Given the description of an element on the screen output the (x, y) to click on. 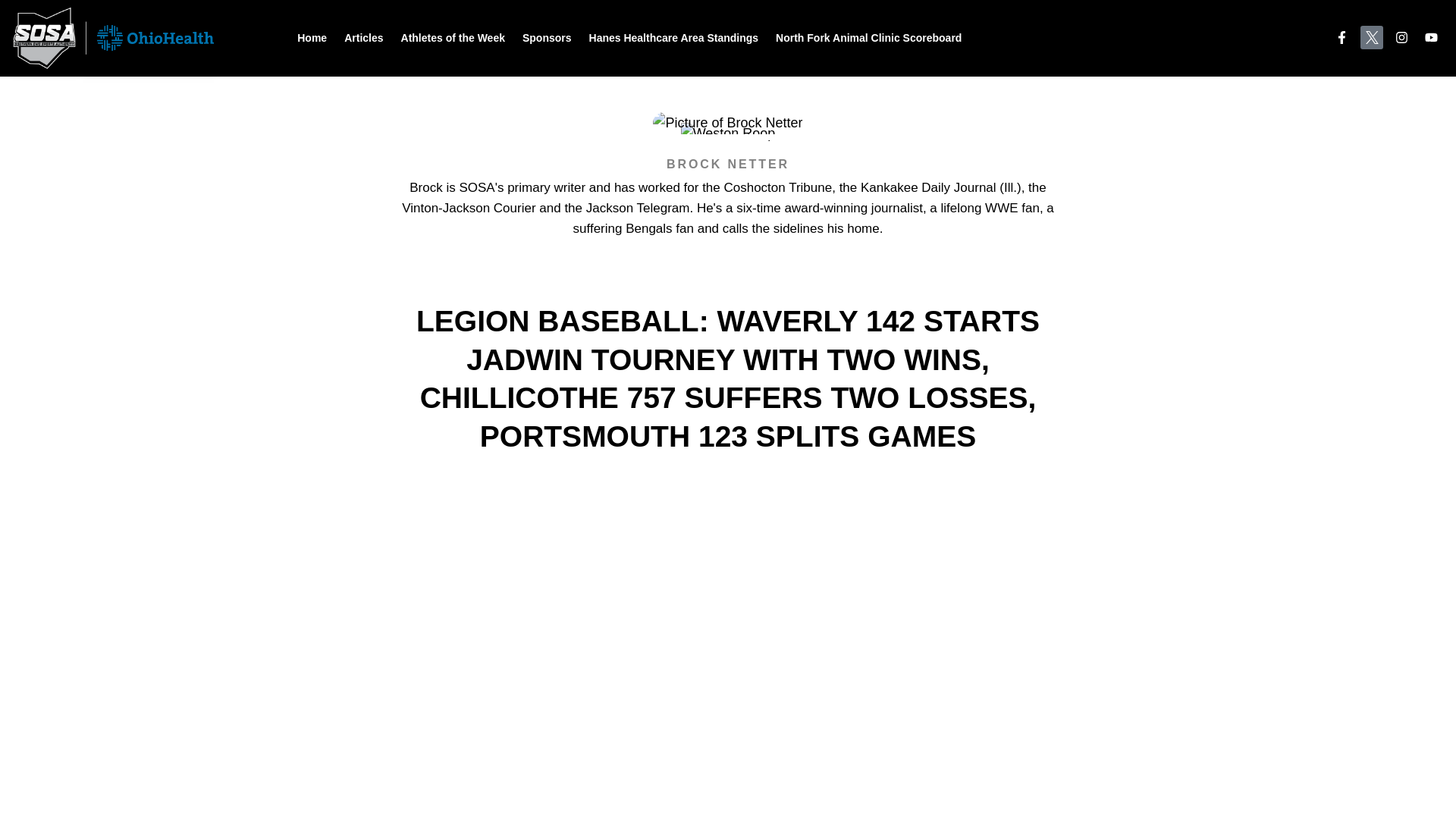
Home (311, 37)
Athletes of the Week (452, 37)
Sponsors (547, 37)
North Fork Animal Clinic Scoreboard (868, 37)
Weston Roop (728, 133)
Hanes Healthcare Area Standings (673, 37)
Articles (363, 37)
